Given the description of an element on the screen output the (x, y) to click on. 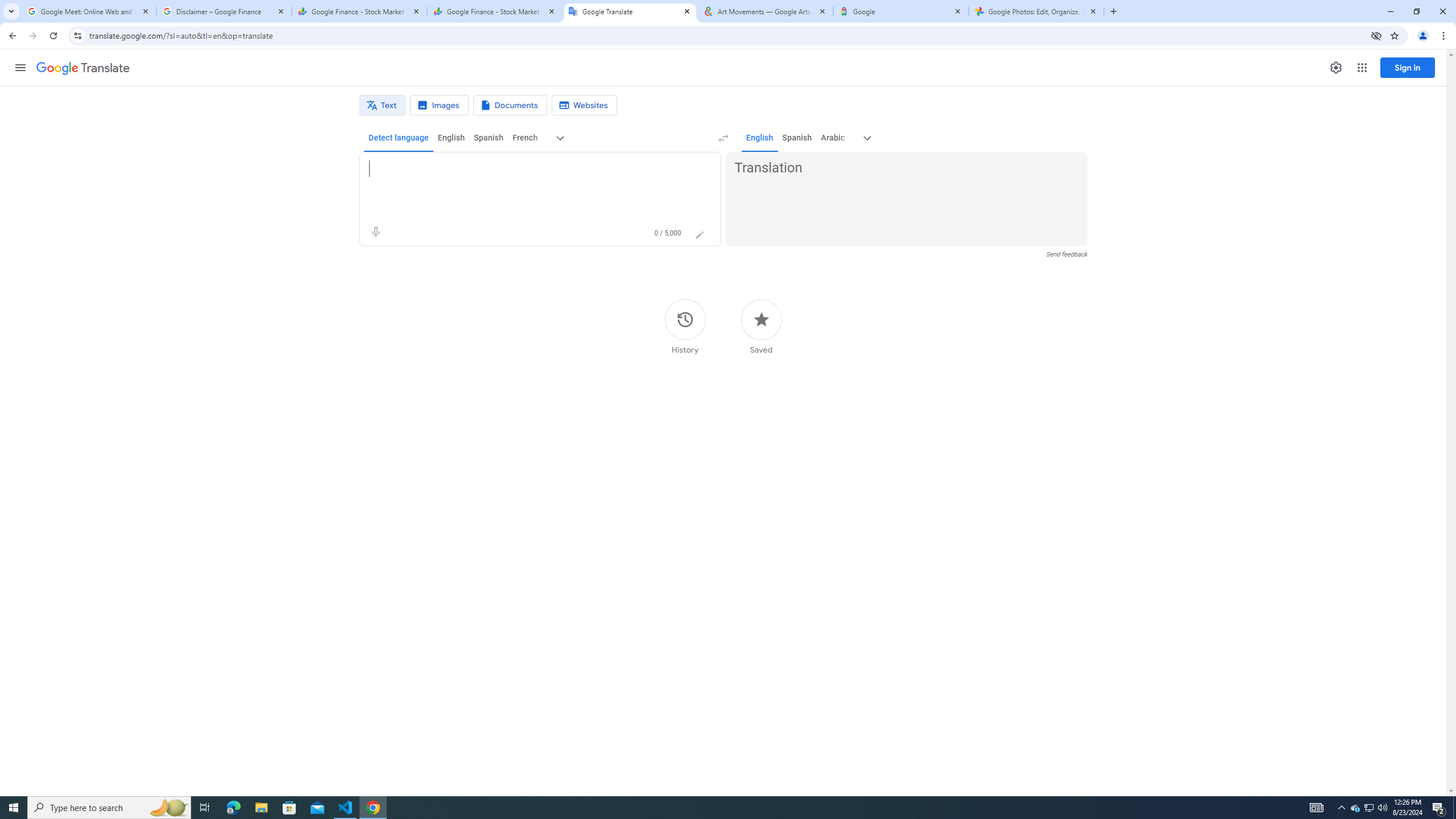
Google Translate (630, 11)
Image translation (439, 105)
Google (901, 11)
More source languages (560, 137)
0 of 5,000 characters used (667, 232)
